Given the description of an element on the screen output the (x, y) to click on. 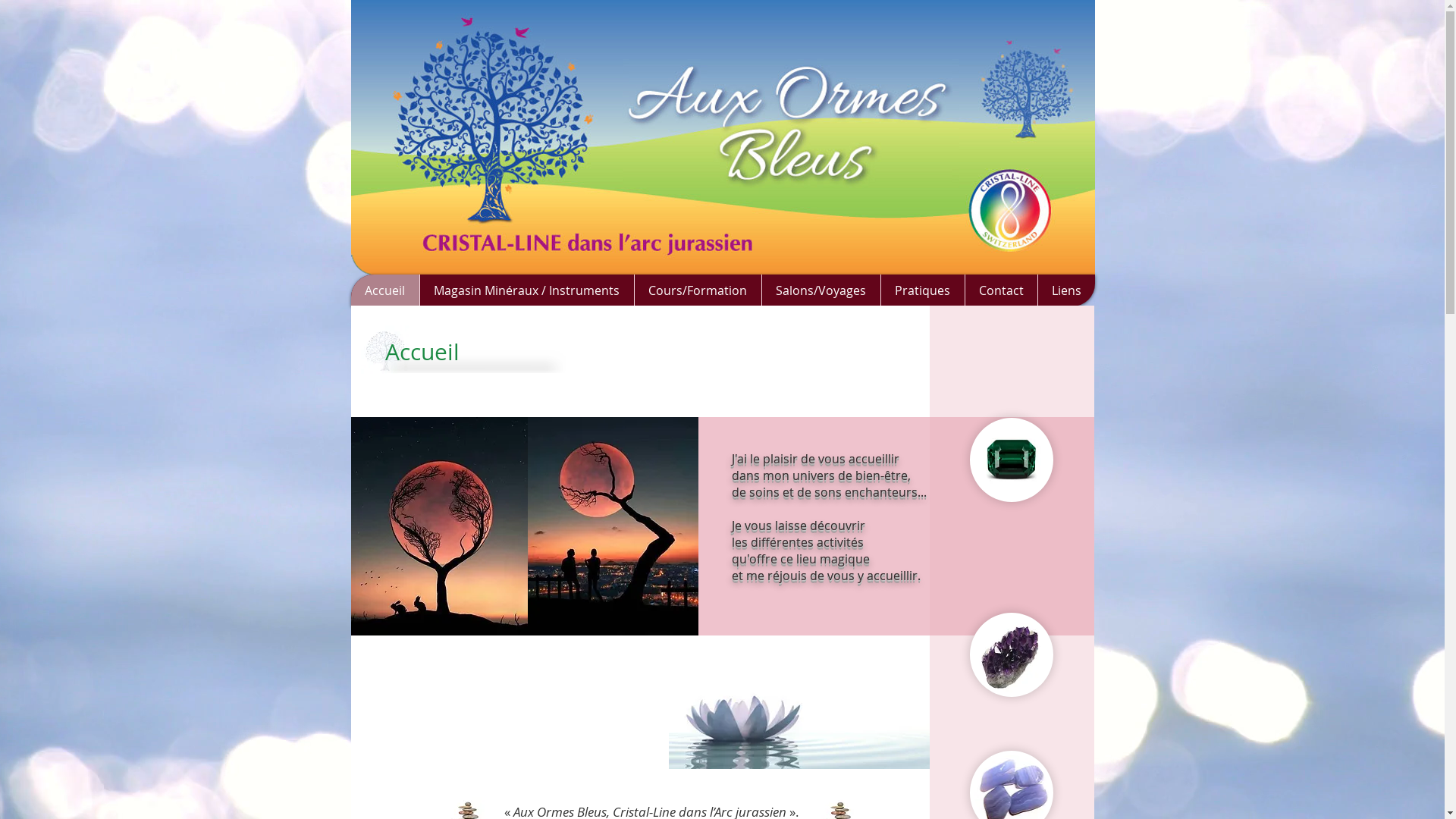
Contact Element type: text (1000, 290)
Salons/Voyages Element type: text (820, 290)
Accueil Element type: text (384, 290)
Cours/Formation Element type: text (697, 290)
Pratiques Element type: text (921, 290)
Liens Element type: text (1066, 290)
